Given the description of an element on the screen output the (x, y) to click on. 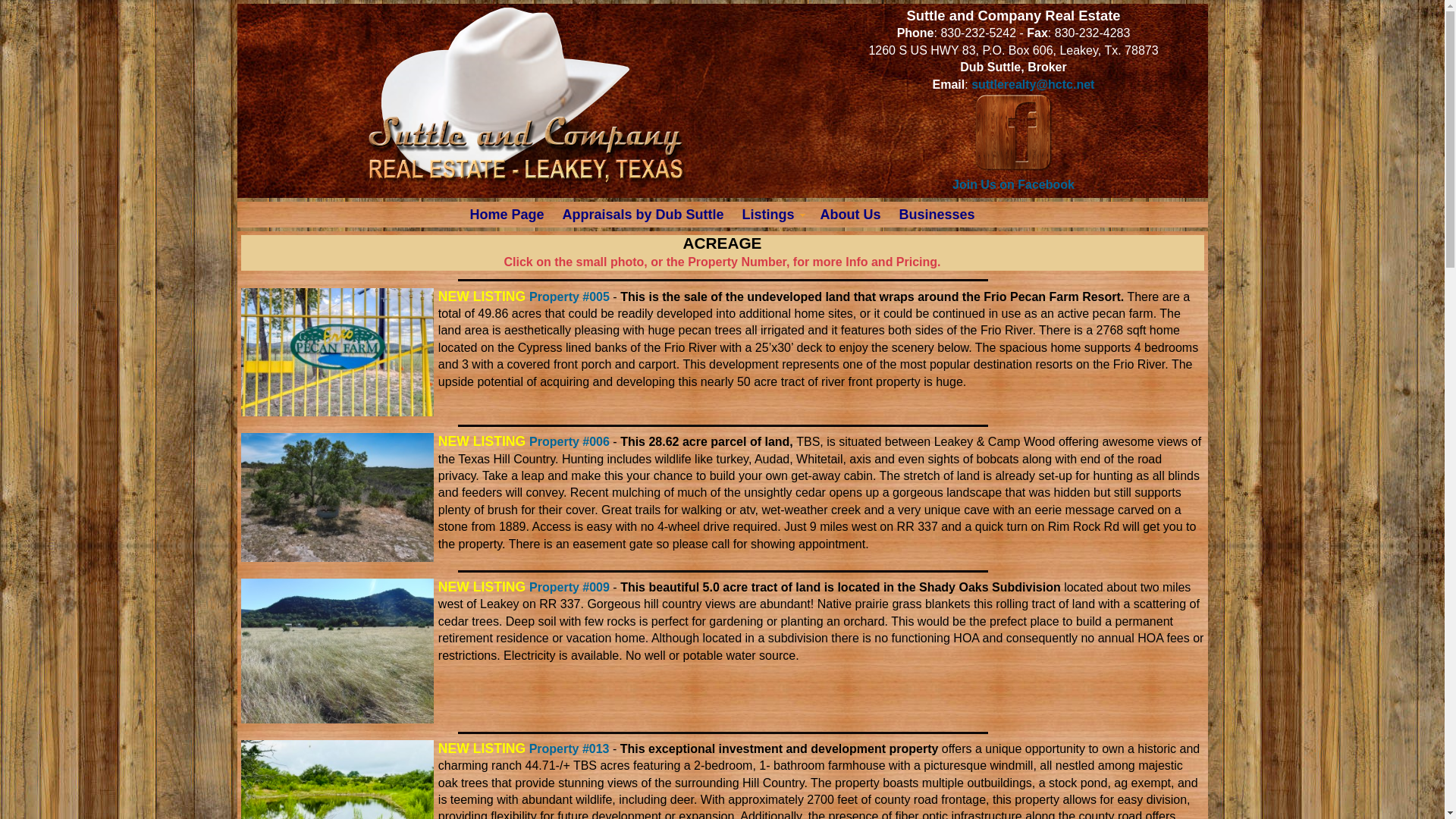
Join Us on Facebook (1013, 175)
Home Page (506, 214)
About Us (849, 214)
Listings (771, 214)
Businesses (936, 214)
Appraisals by Dub Suttle (642, 214)
